Given the description of an element on the screen output the (x, y) to click on. 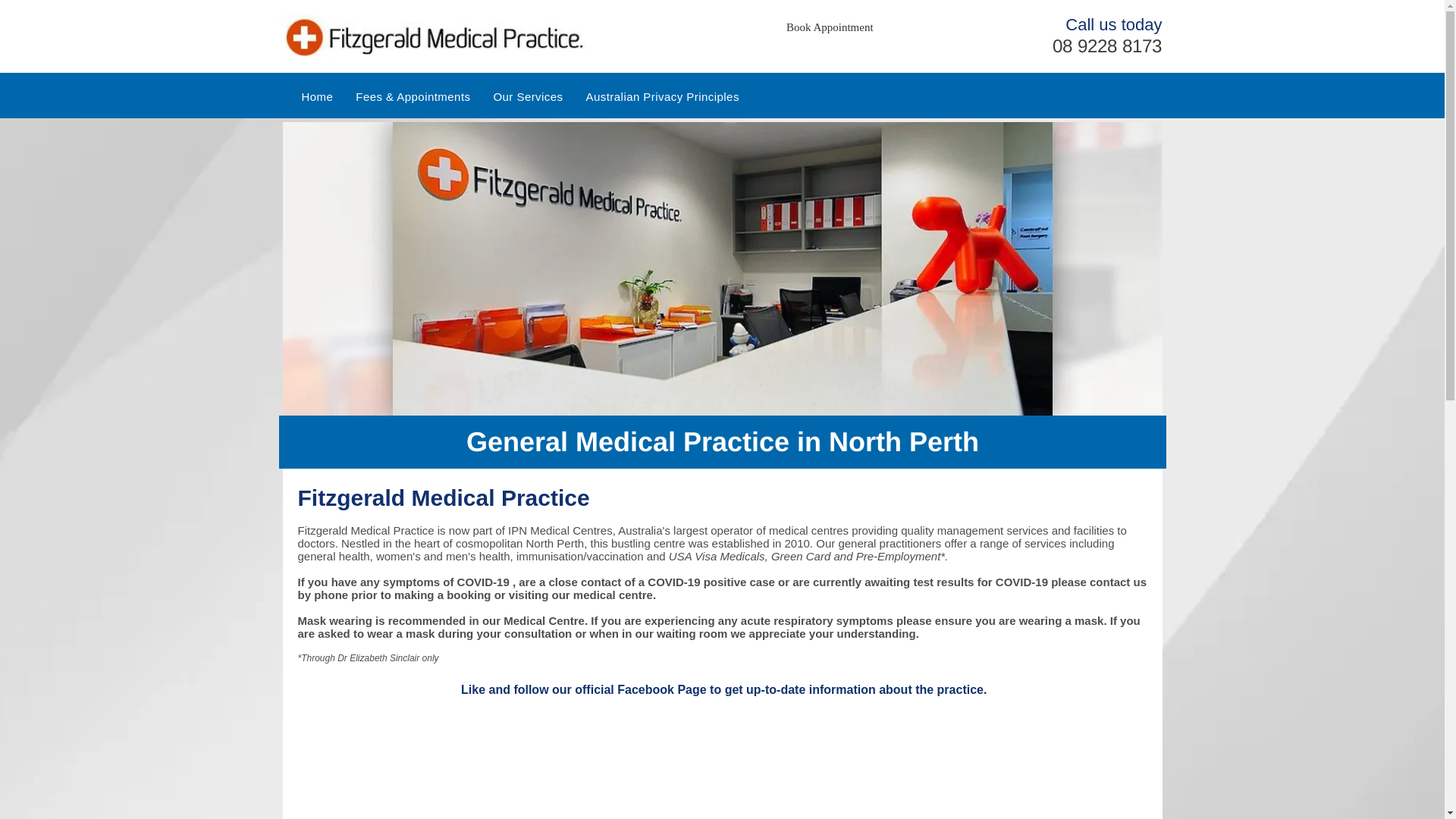
Fees & Appointments Element type: text (412, 96)
fitzgerald medical practice reception Element type: hover (721, 268)
Home Element type: text (316, 96)
Australian Privacy Principles Element type: text (662, 96)
Book Appointment Element type: text (829, 27)
08 9228 8173 Element type: text (1106, 45)
Our Services Element type: text (527, 96)
